Given the description of an element on the screen output the (x, y) to click on. 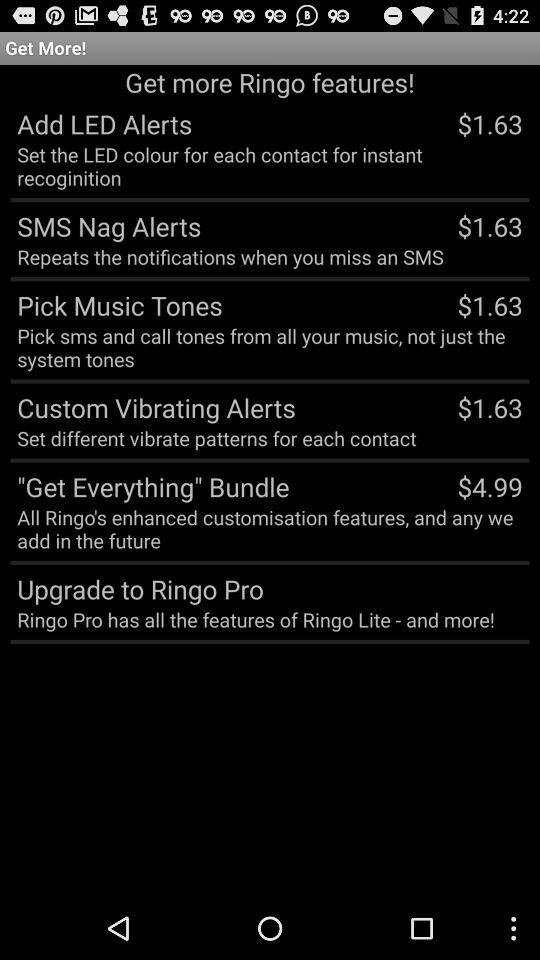
choose app below get more ringo item (101, 123)
